Given the description of an element on the screen output the (x, y) to click on. 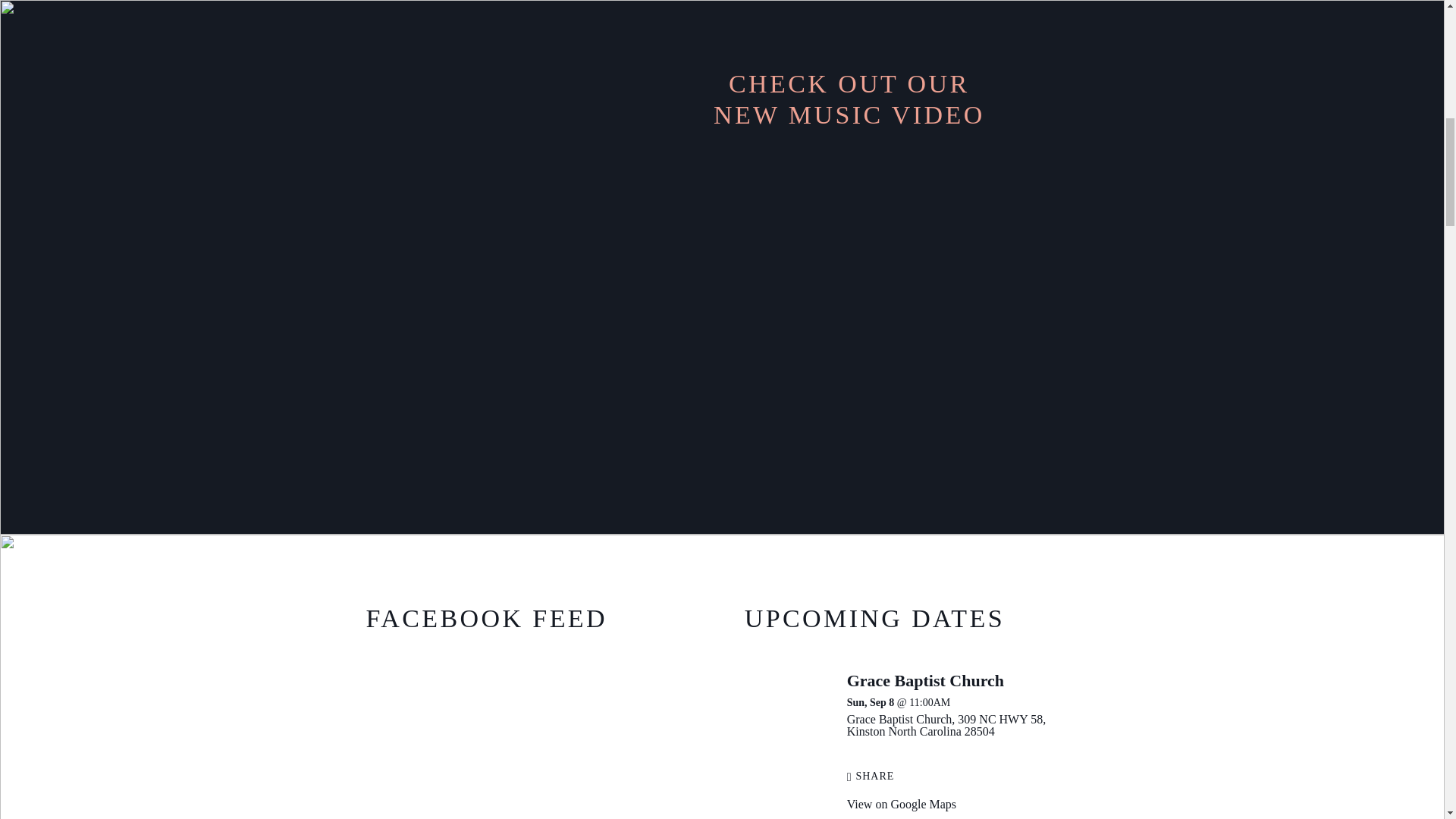
SHARE (871, 776)
Grace Baptist Church (925, 680)
View on Google Maps (946, 724)
View on Google Maps (901, 803)
